Given the description of an element on the screen output the (x, y) to click on. 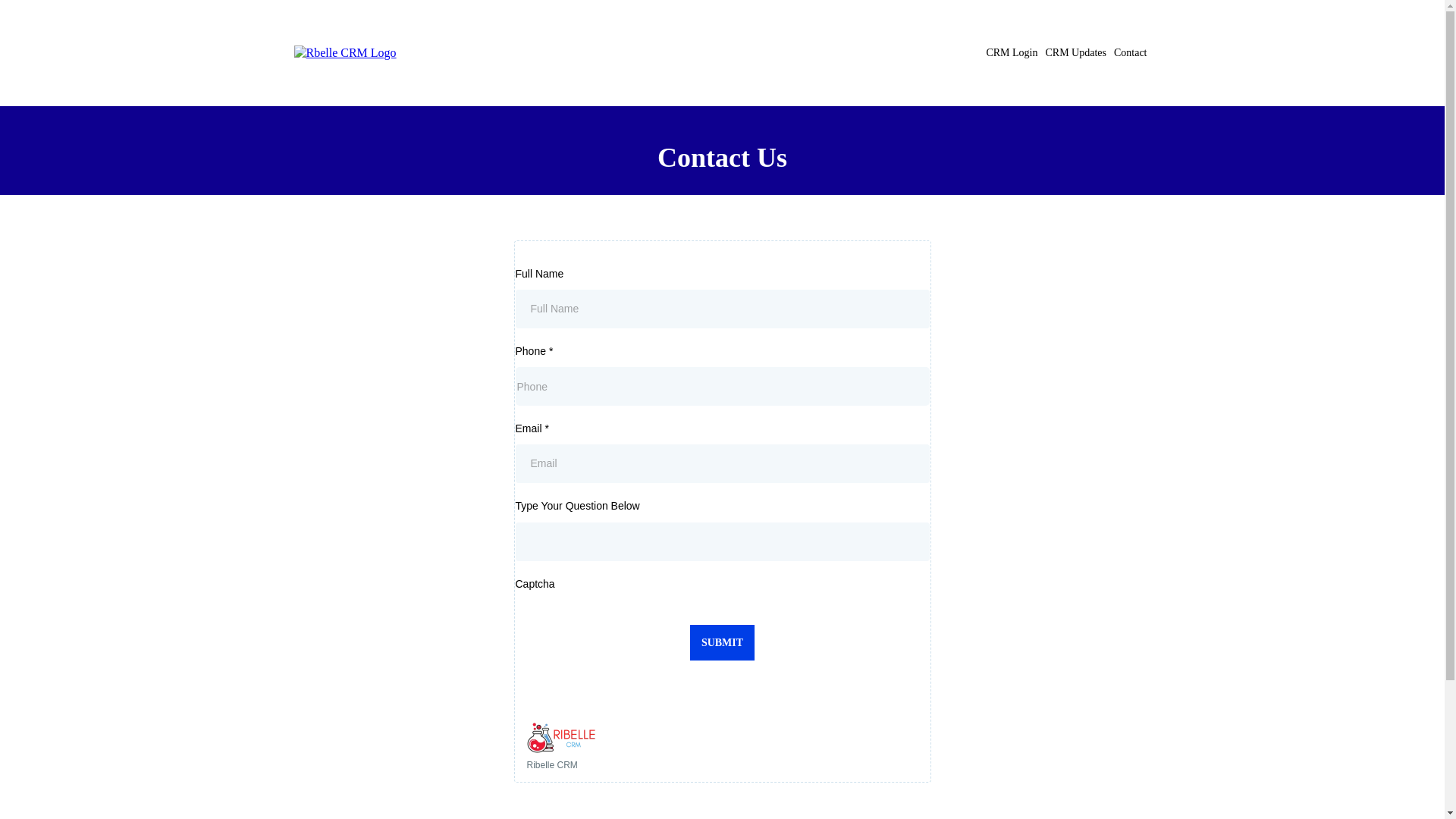
Ribelle CRM (721, 746)
SUBMIT (722, 642)
Contact (1130, 53)
CRM Updates (1075, 53)
CRM Login (1011, 53)
